Given the description of an element on the screen output the (x, y) to click on. 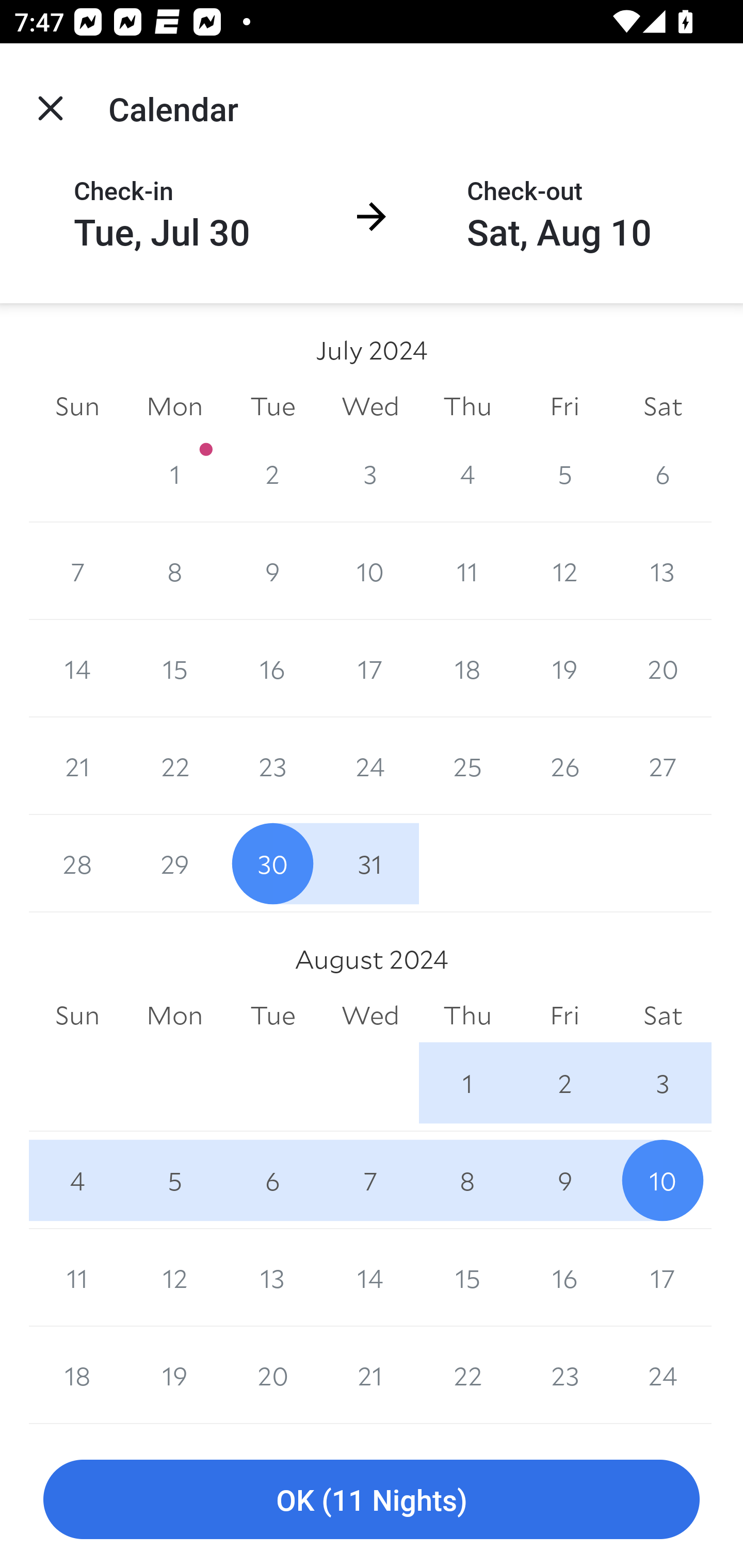
Sun (77, 405)
Mon (174, 405)
Tue (272, 405)
Wed (370, 405)
Thu (467, 405)
Fri (564, 405)
Sat (662, 405)
1 1 July 2024 (174, 473)
2 2 July 2024 (272, 473)
3 3 July 2024 (370, 473)
4 4 July 2024 (467, 473)
5 5 July 2024 (564, 473)
6 6 July 2024 (662, 473)
7 7 July 2024 (77, 570)
8 8 July 2024 (174, 570)
9 9 July 2024 (272, 570)
10 10 July 2024 (370, 570)
11 11 July 2024 (467, 570)
12 12 July 2024 (564, 570)
13 13 July 2024 (662, 570)
14 14 July 2024 (77, 668)
15 15 July 2024 (174, 668)
16 16 July 2024 (272, 668)
17 17 July 2024 (370, 668)
18 18 July 2024 (467, 668)
19 19 July 2024 (564, 668)
20 20 July 2024 (662, 668)
21 21 July 2024 (77, 766)
22 22 July 2024 (174, 766)
23 23 July 2024 (272, 766)
24 24 July 2024 (370, 766)
25 25 July 2024 (467, 766)
26 26 July 2024 (564, 766)
27 27 July 2024 (662, 766)
28 28 July 2024 (77, 863)
29 29 July 2024 (174, 863)
30 30 July 2024 (272, 863)
31 31 July 2024 (370, 863)
Sun (77, 1015)
Mon (174, 1015)
Tue (272, 1015)
Wed (370, 1015)
Thu (467, 1015)
Fri (564, 1015)
Sat (662, 1015)
1 1 August 2024 (467, 1083)
2 2 August 2024 (564, 1083)
3 3 August 2024 (662, 1083)
4 4 August 2024 (77, 1180)
